Given the description of an element on the screen output the (x, y) to click on. 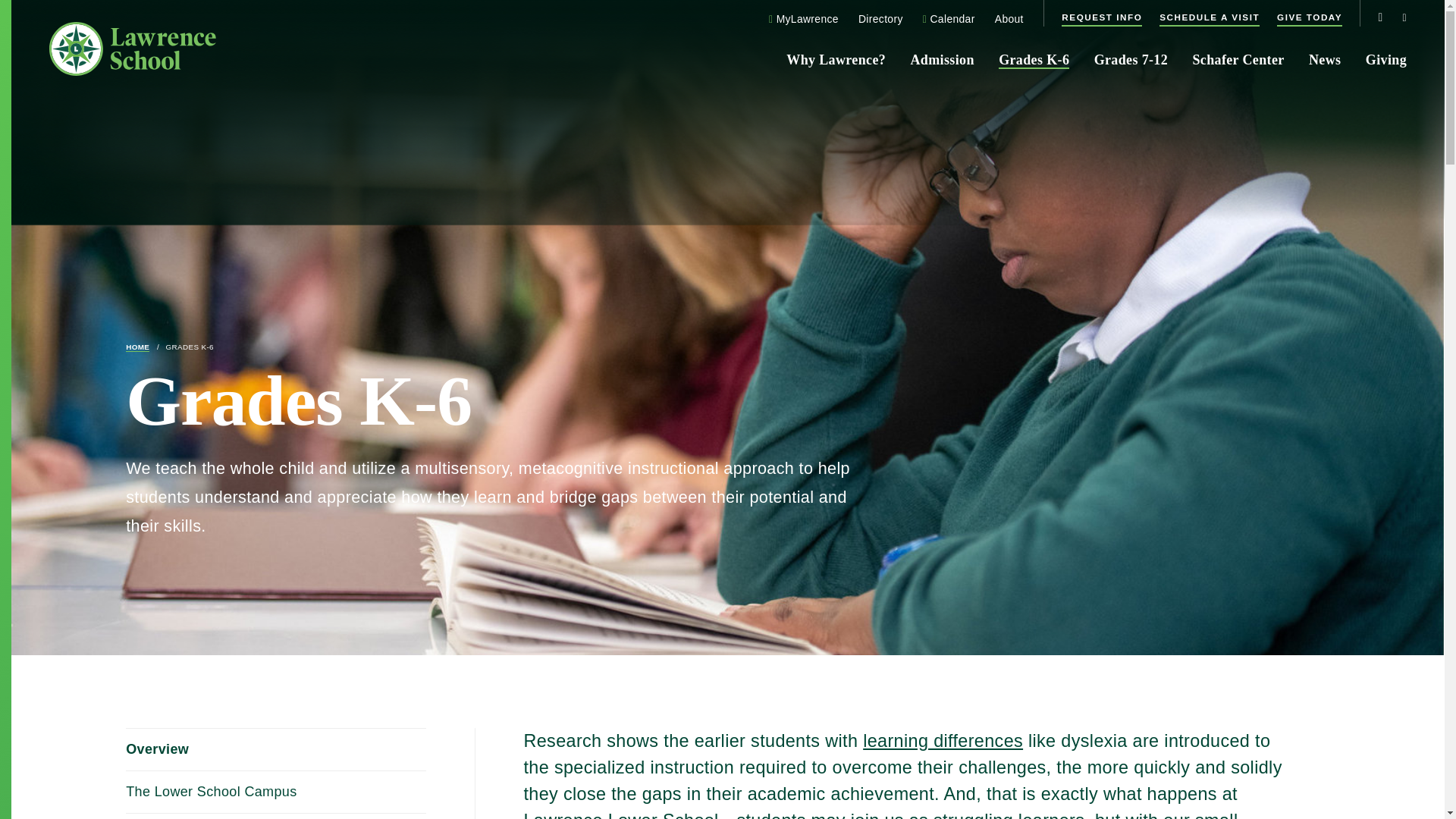
Academics (275, 816)
Grades K-6 (188, 347)
The Lower School Campus (275, 792)
Home (137, 347)
Overview (275, 749)
